Given the description of an element on the screen output the (x, y) to click on. 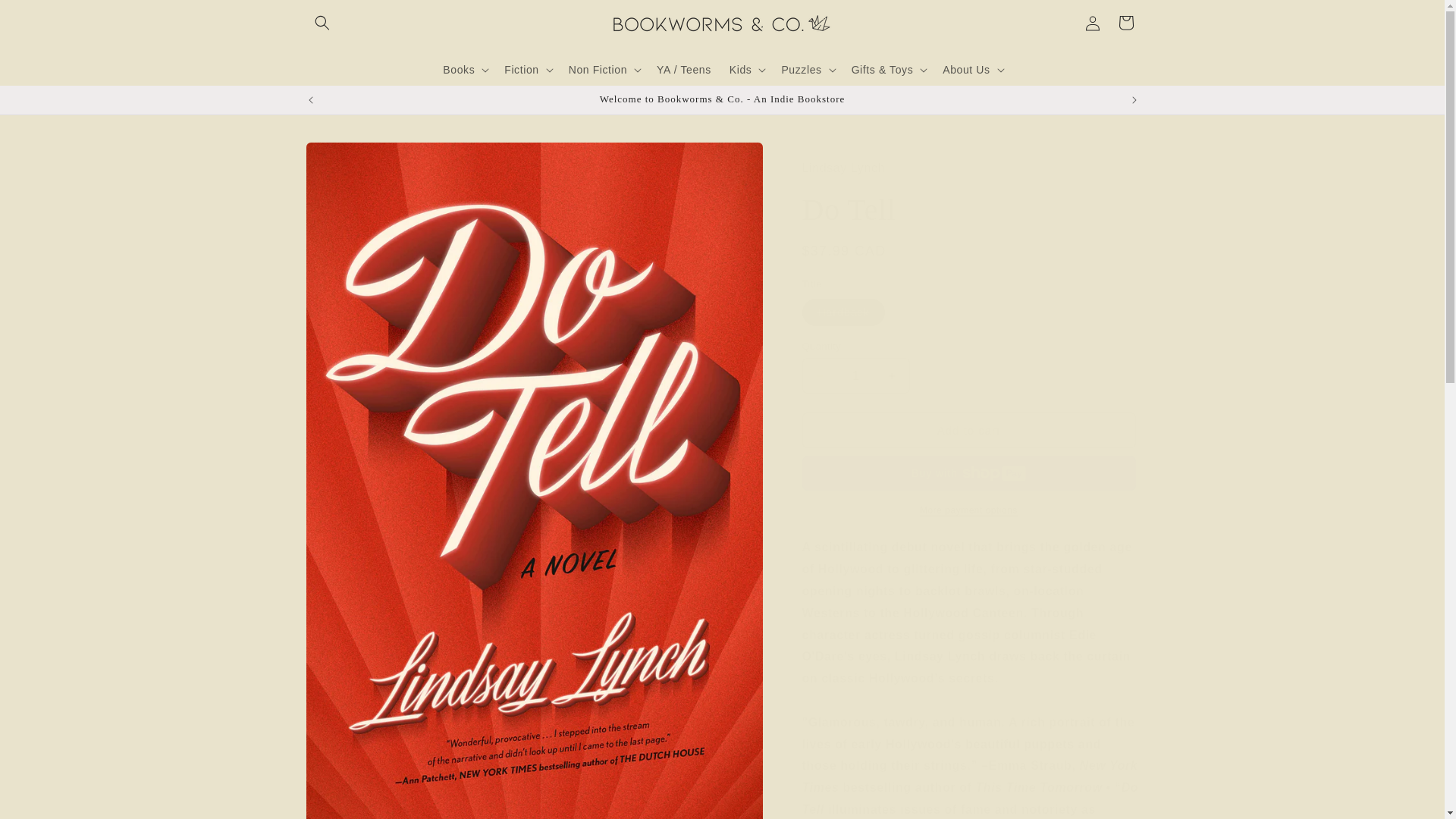
1 (856, 375)
Skip to content (45, 17)
